Given the description of an element on the screen output the (x, y) to click on. 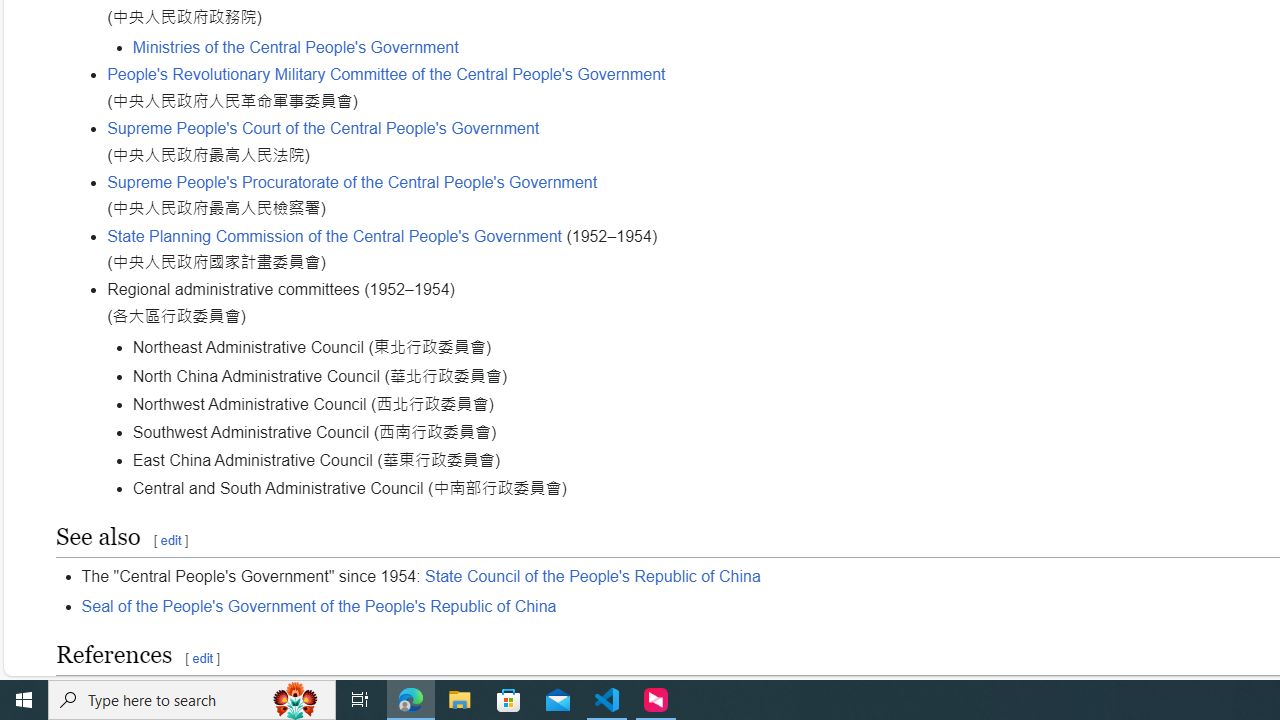
Ministries of the Central People's Government (295, 47)
edit (202, 658)
State Council of the People's Republic of China (592, 577)
State Planning Commission of the Central People's Government (335, 235)
Supreme People's Court of the Central People's Government (323, 129)
